Given the description of an element on the screen output the (x, y) to click on. 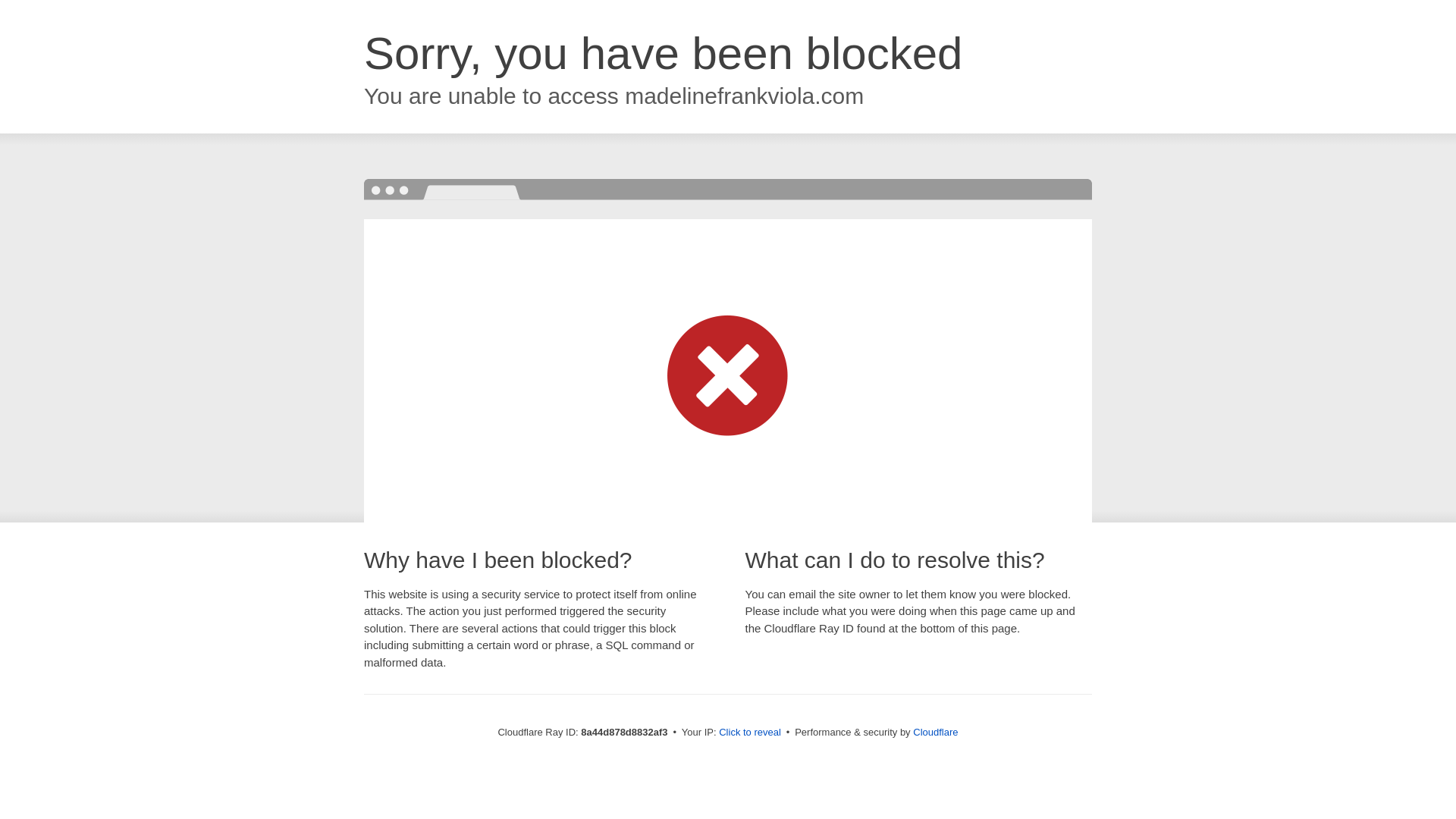
Click to reveal (749, 732)
Cloudflare (935, 731)
